Given the description of an element on the screen output the (x, y) to click on. 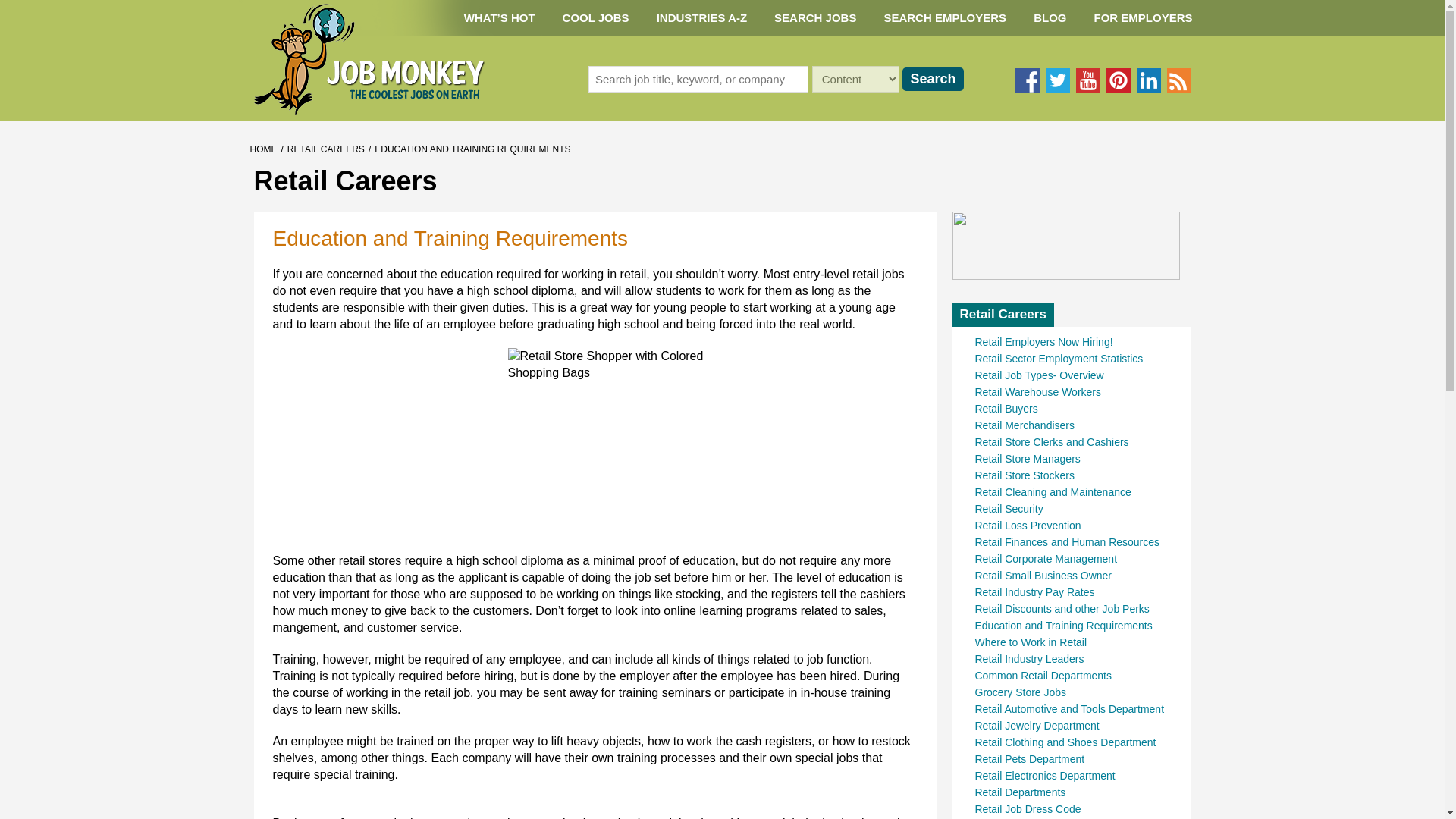
Follow us on Twitter (1056, 79)
Search (932, 78)
COOL JOBS (595, 18)
Subscribe to our blog (1178, 79)
Follow us on Pinterest (1117, 79)
Go to JobMonkey. (264, 149)
Search (932, 78)
Connect with us on LinkedIn (1147, 79)
Follow us on Twitter (1056, 79)
Go to Retail Careers. (325, 149)
INDUSTRIES A-Z (701, 18)
Connect with us on LinkedIn (1147, 79)
Follow us on Pinterest (1117, 79)
FOR EMPLOYERS (1142, 18)
SEARCH EMPLOYERS (944, 18)
